Given the description of an element on the screen output the (x, y) to click on. 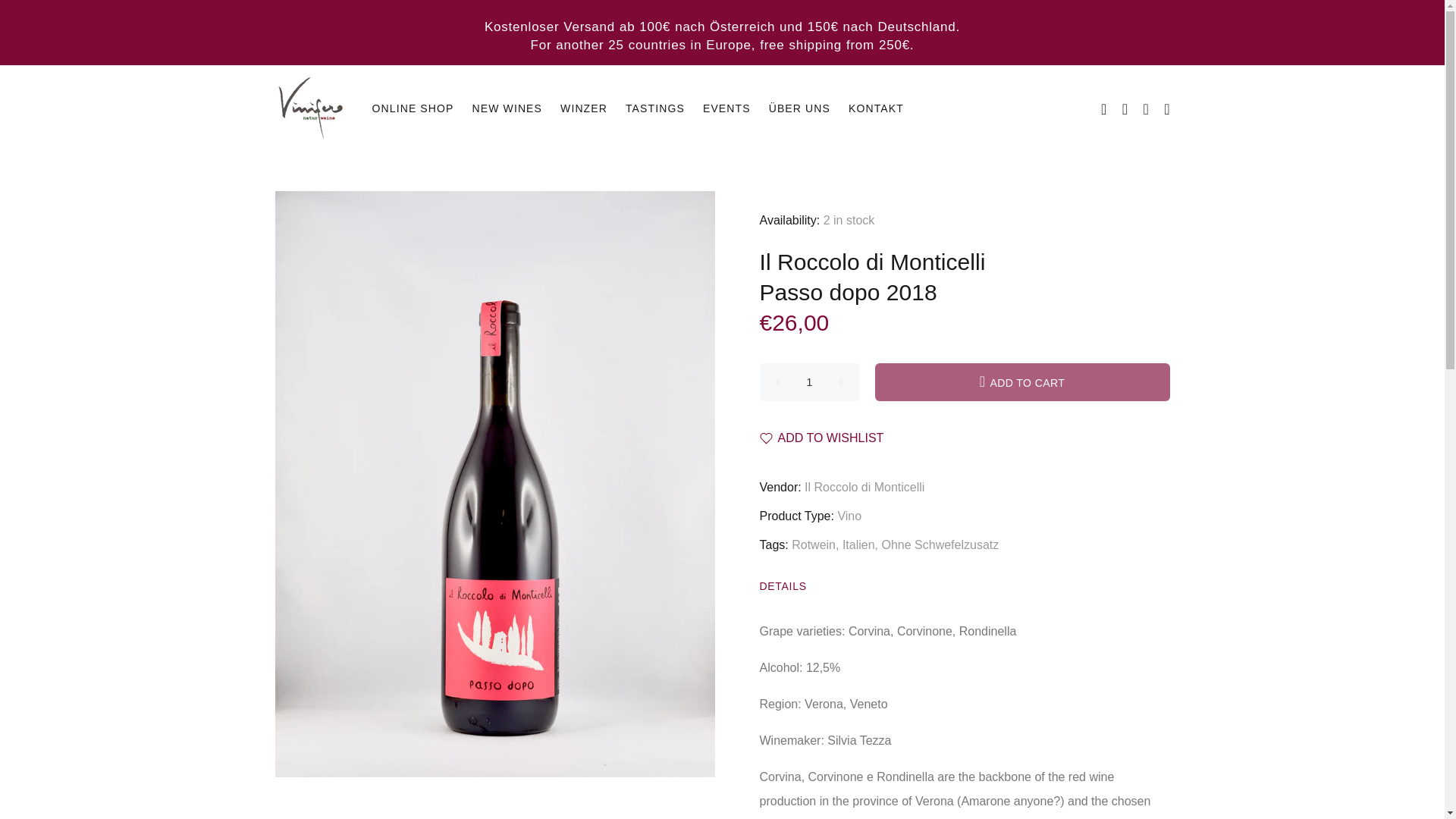
Il Roccolo di Monticelli (864, 486)
NEW WINES (507, 108)
ADD TO WISHLIST (821, 437)
Il Roccolo di Monticelli (872, 261)
TASTINGS (654, 108)
KONTAKT (872, 108)
ADD TO CART (1022, 382)
EVENTS (727, 108)
WINZER (583, 108)
ONLINE SHOP (412, 108)
